Given the description of an element on the screen output the (x, y) to click on. 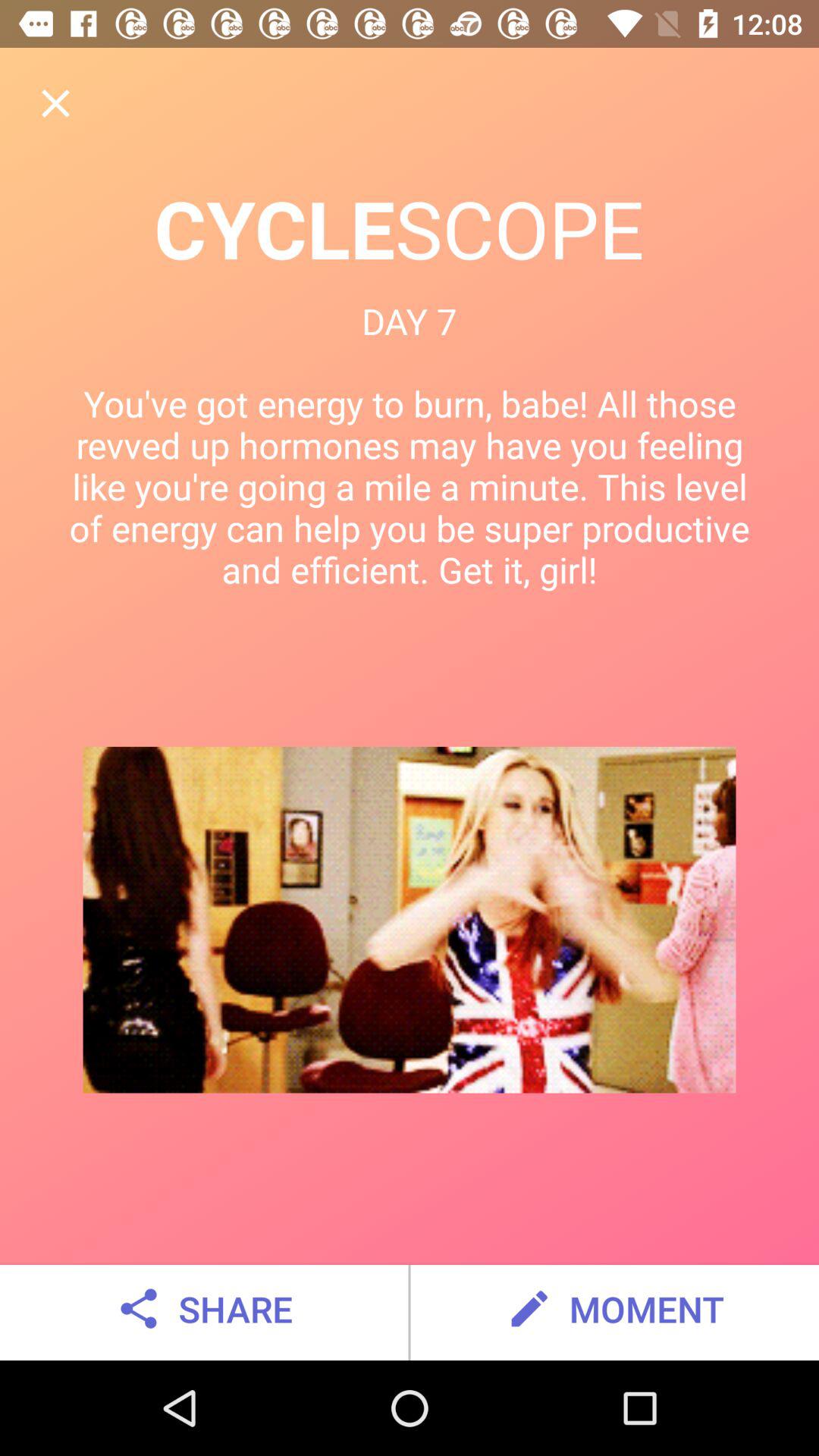
tap icon at the top left corner (55, 103)
